Given the description of an element on the screen output the (x, y) to click on. 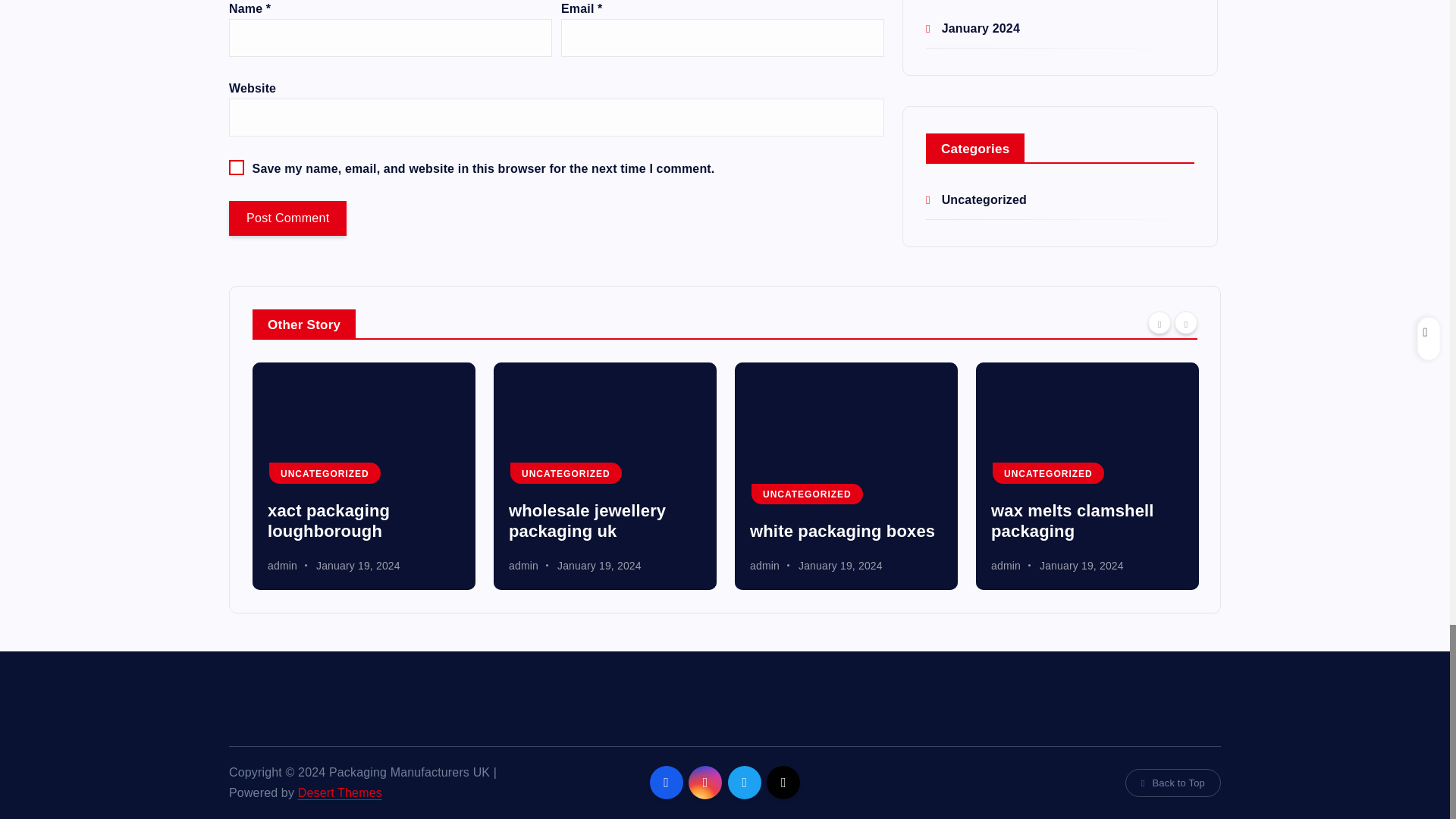
Post Comment (287, 217)
yes (236, 167)
Post Comment (287, 217)
